Given the description of an element on the screen output the (x, y) to click on. 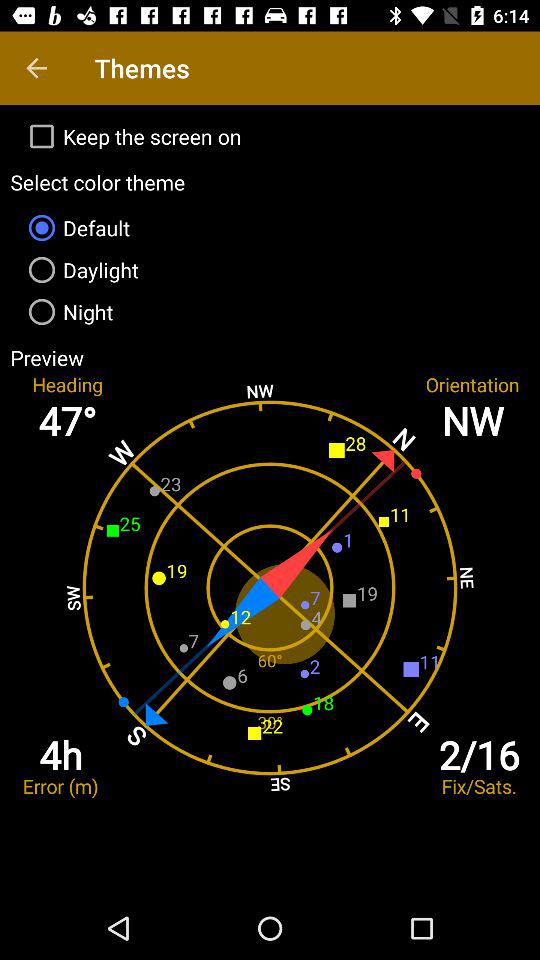
press icon to the left of the themes item (36, 68)
